Given the description of an element on the screen output the (x, y) to click on. 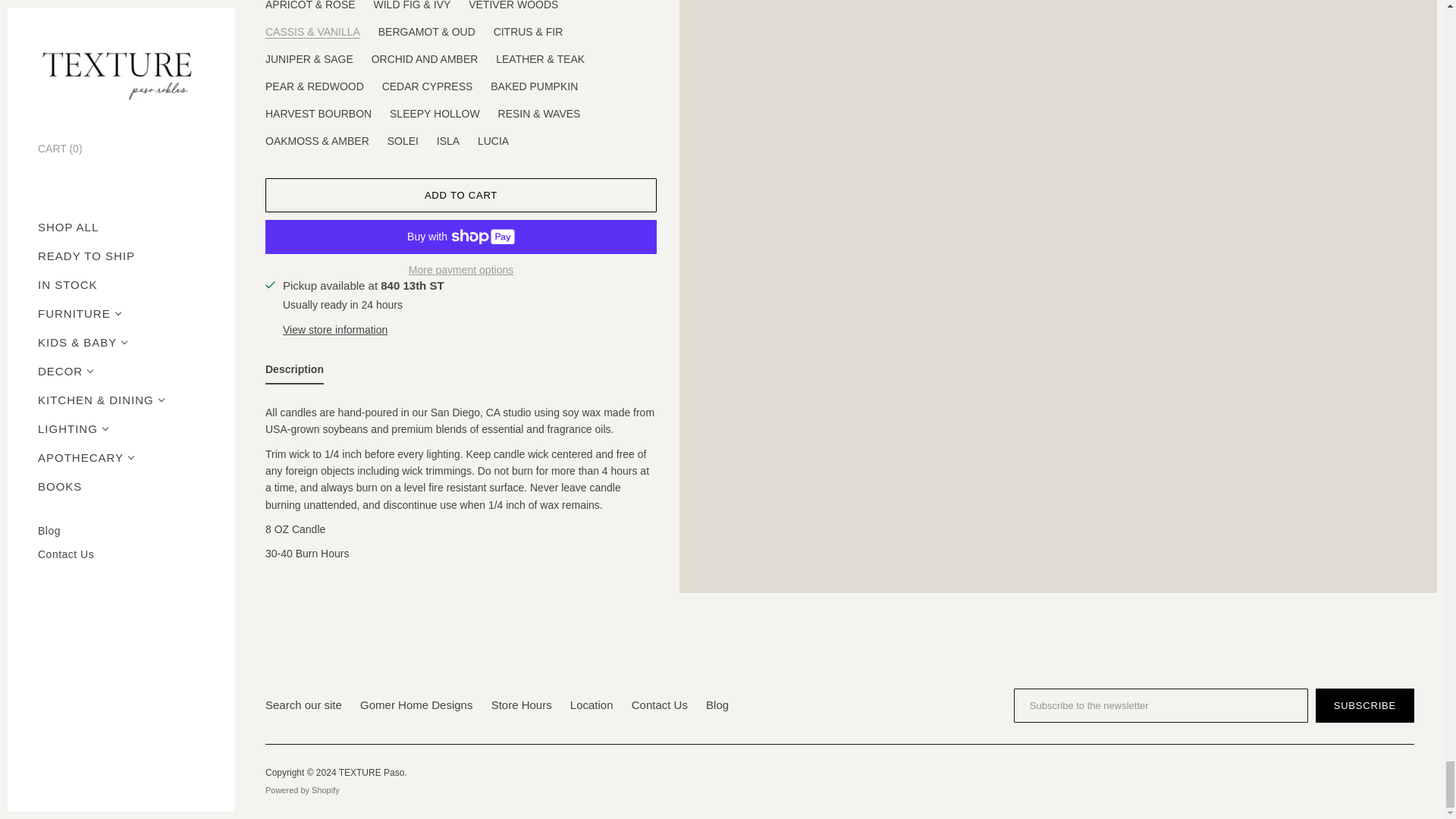
Subscribe (1364, 705)
